Given the description of an element on the screen output the (x, y) to click on. 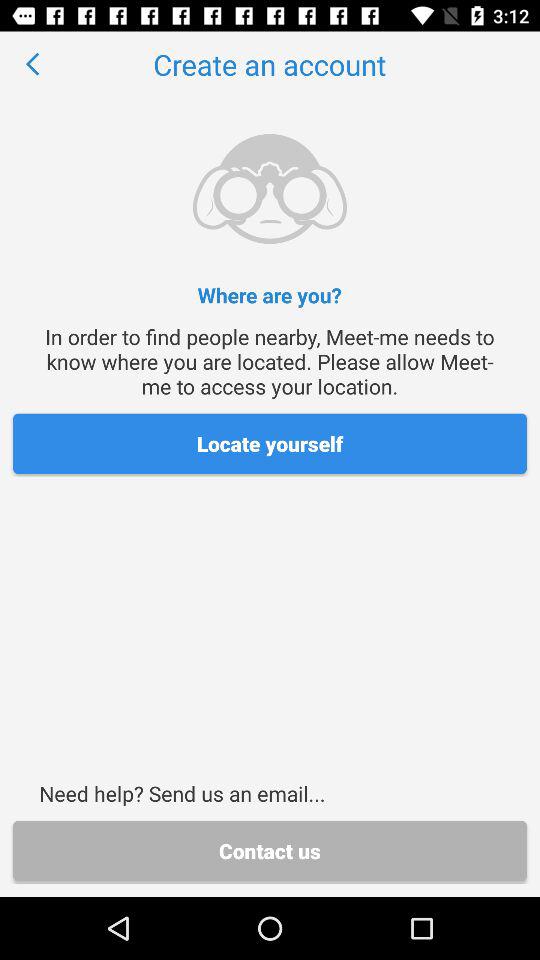
press the icon below the need help send icon (269, 850)
